Given the description of an element on the screen output the (x, y) to click on. 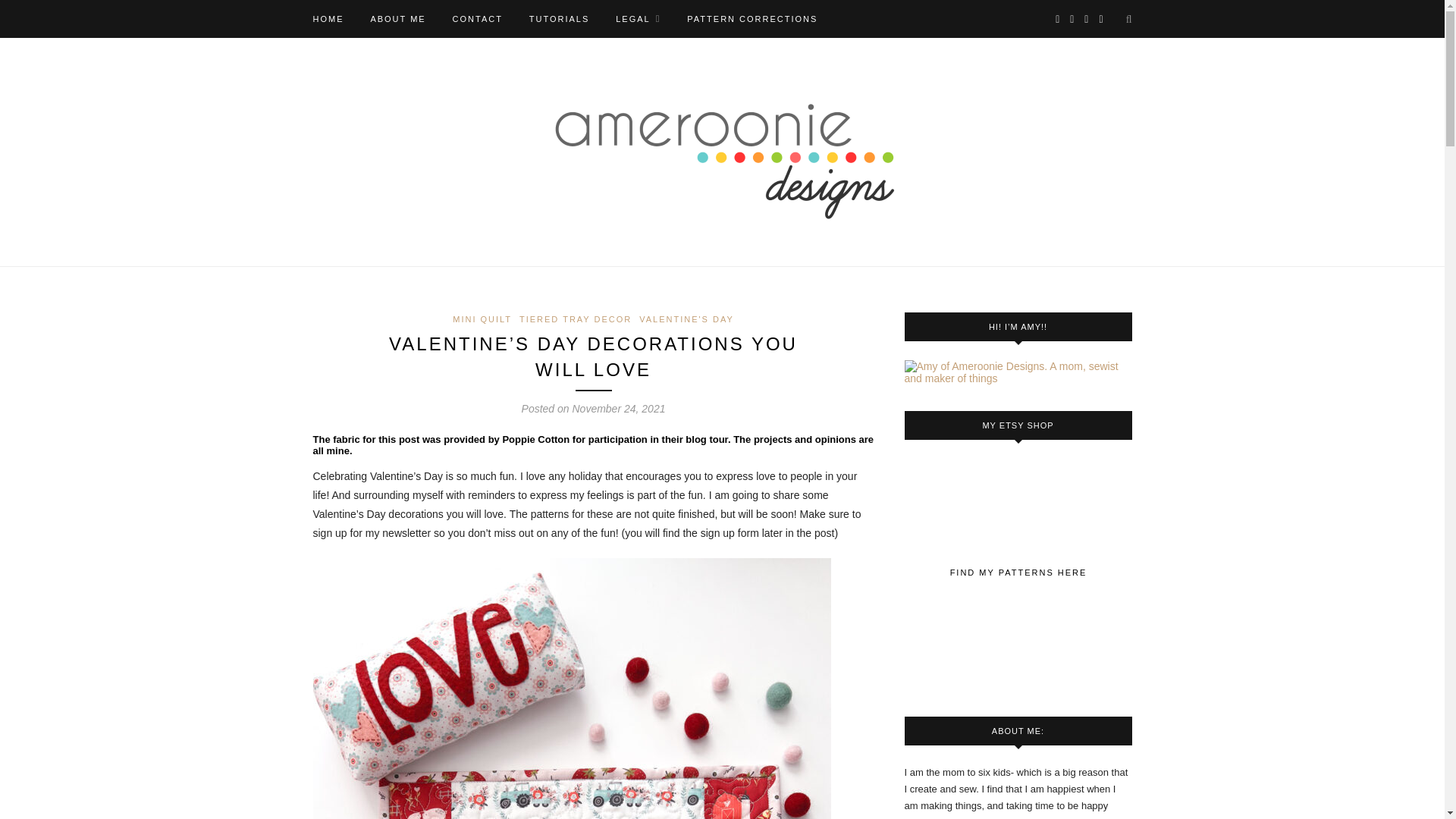
VALENTINE'S DAY (686, 318)
ABOUT ME (397, 18)
TIERED TRAY DECOR (575, 318)
PATTERN CORRECTIONS (751, 18)
LEGAL (638, 18)
CONTACT (477, 18)
TUTORIALS (559, 18)
MINI QUILT (482, 318)
